Given the description of an element on the screen output the (x, y) to click on. 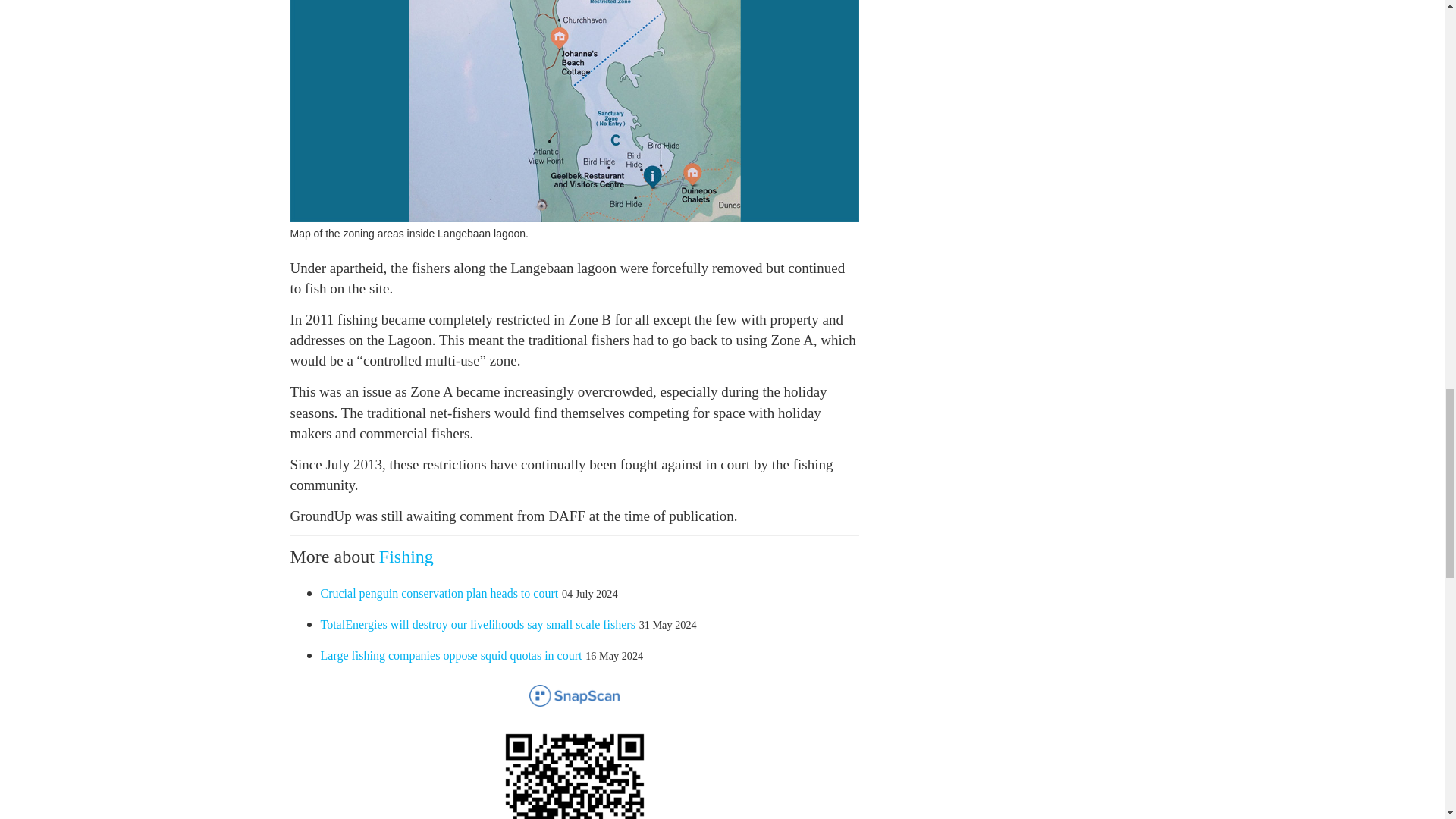
Crucial penguin conservation plan heads to court (438, 593)
Fishing (405, 556)
Large fishing companies oppose squid quotas in court (450, 655)
